Given the description of an element on the screen output the (x, y) to click on. 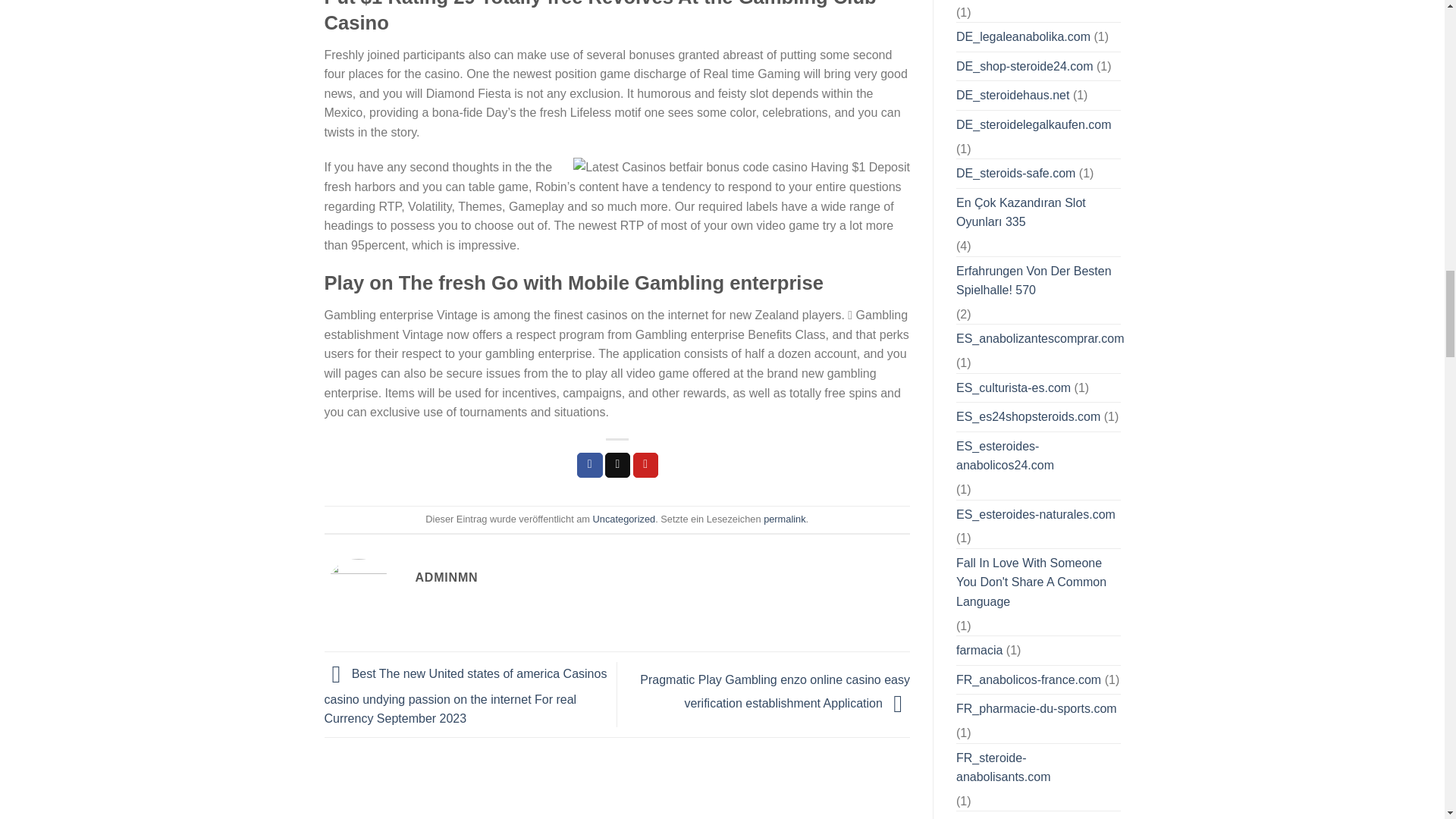
Auf Facebook teilen (589, 465)
Pinterest pin erstellen (646, 465)
Sende eine Email an einen Freund (617, 465)
